Given the description of an element on the screen output the (x, y) to click on. 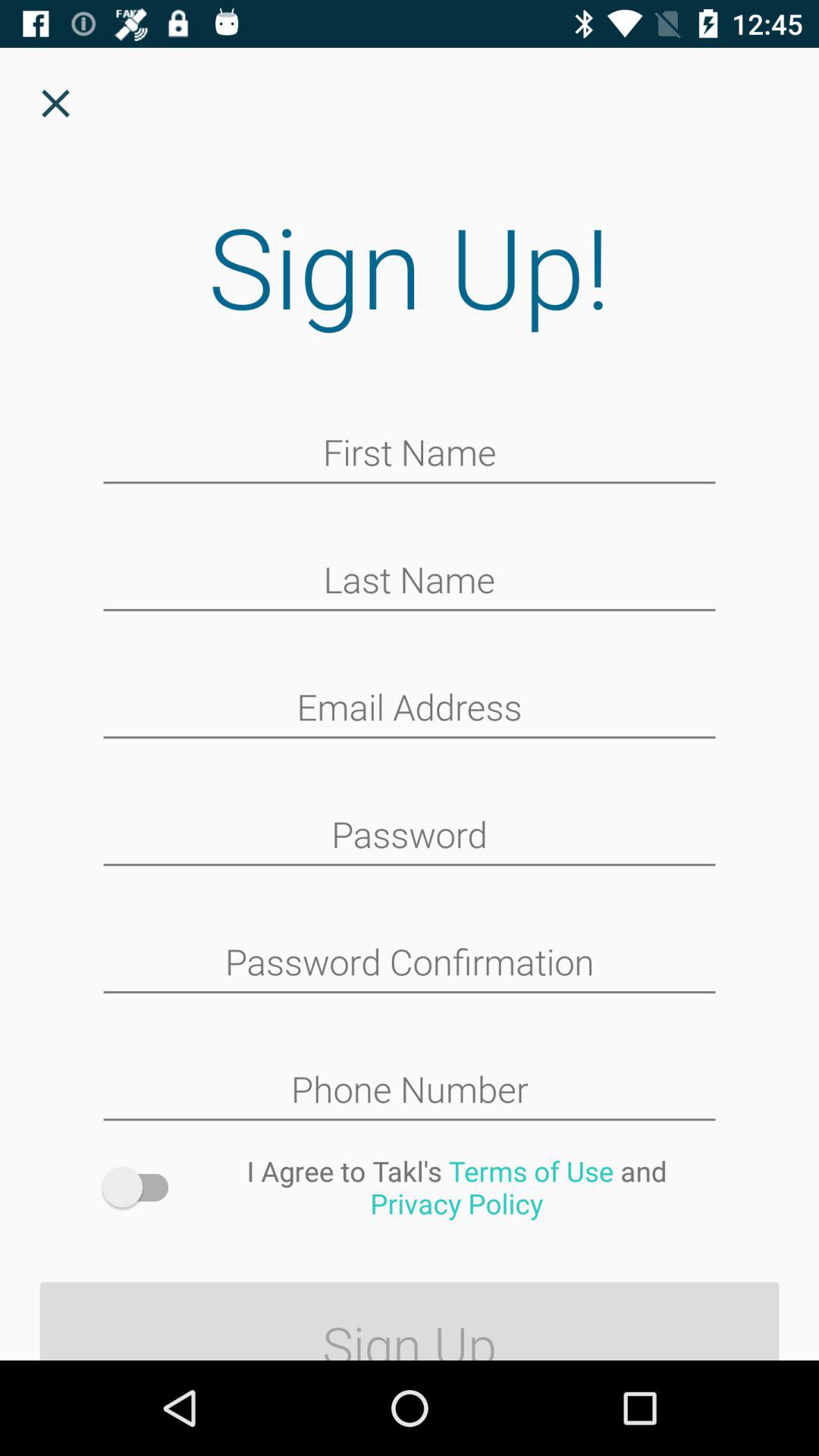
choose the icon to the left of the i agree to icon (142, 1187)
